Given the description of an element on the screen output the (x, y) to click on. 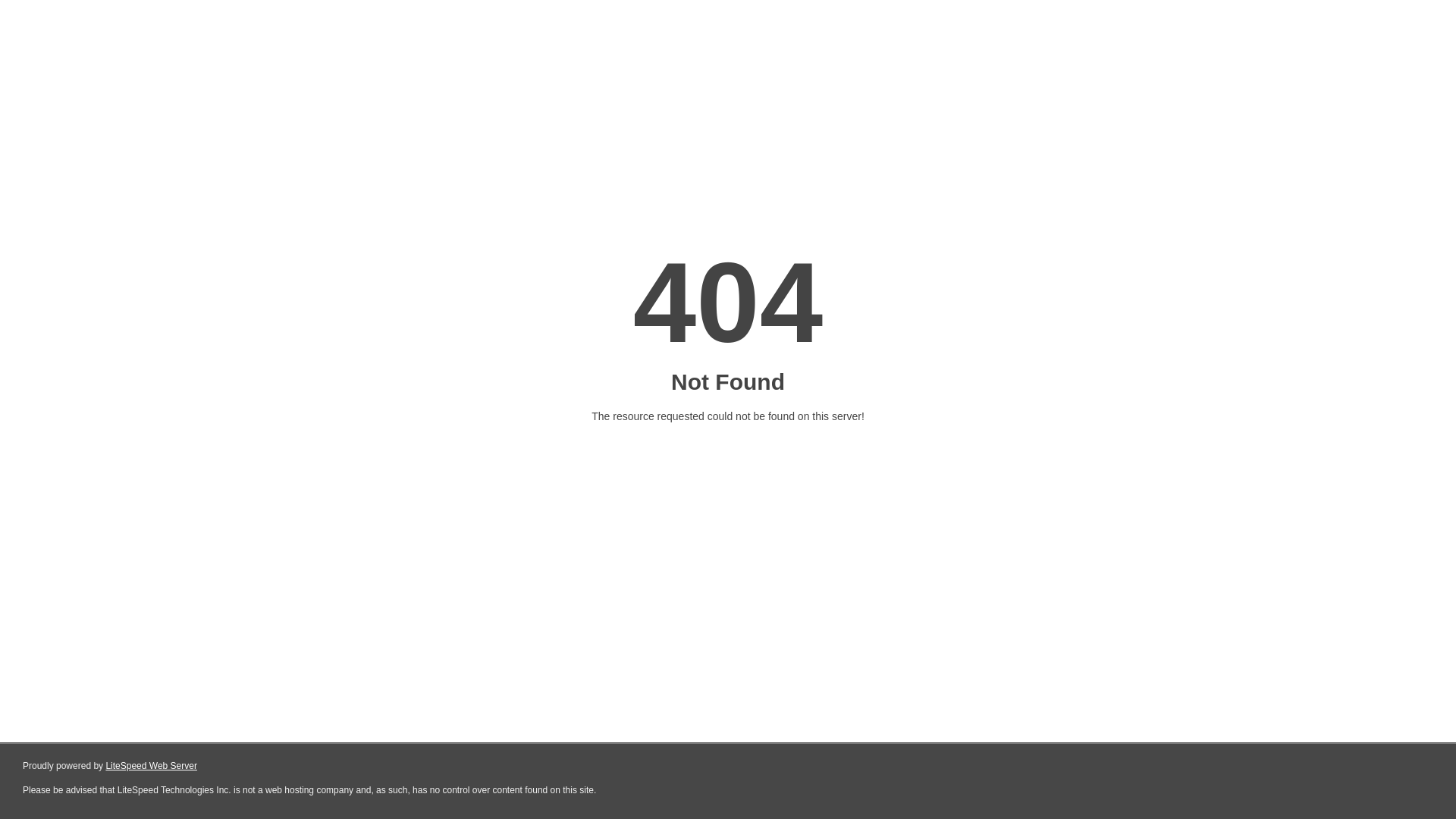
LiteSpeed Web Server Element type: text (151, 765)
